Given the description of an element on the screen output the (x, y) to click on. 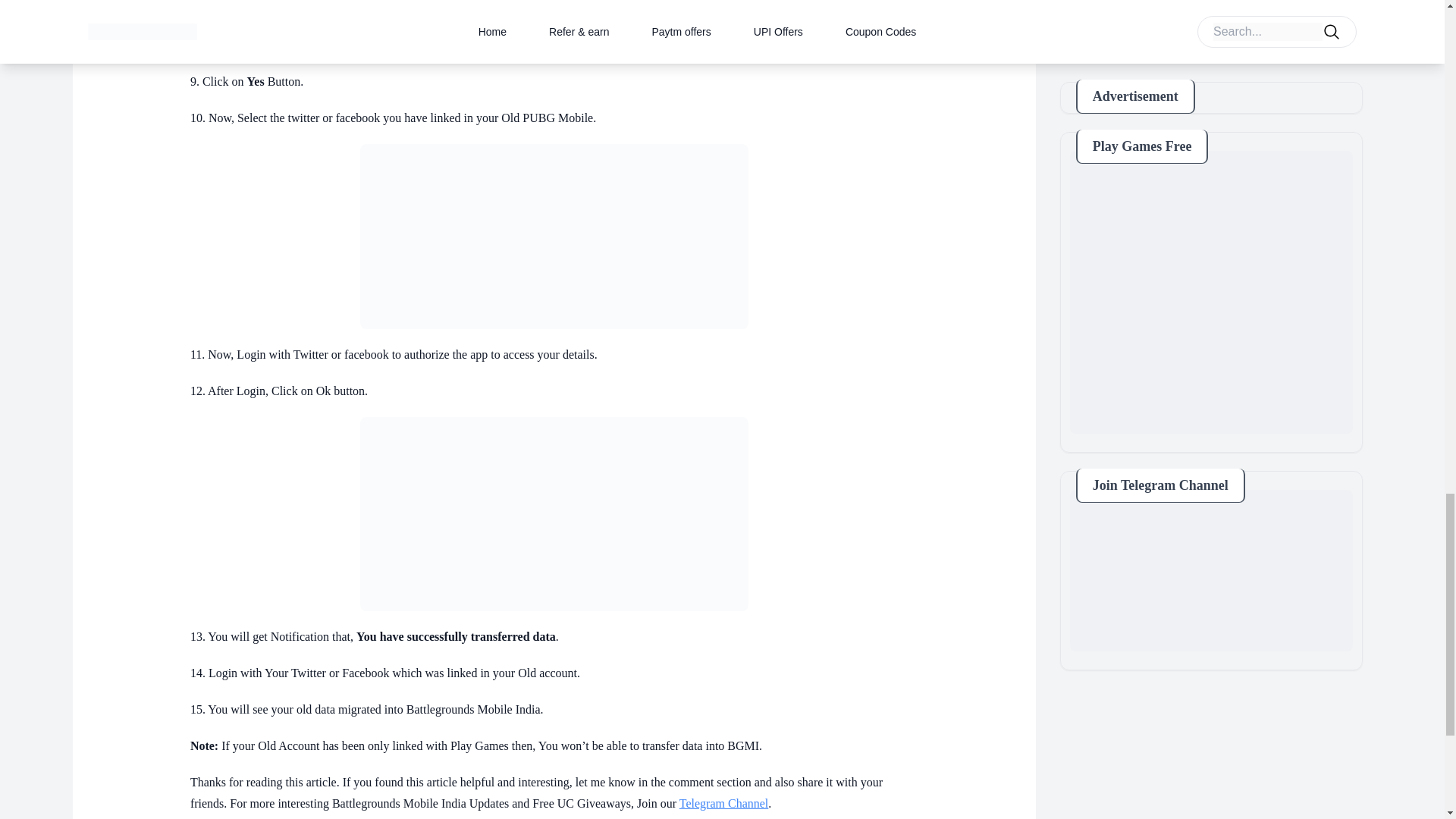
Transfer PUBG Mobile Data to Battlegrounds Mobile India (553, 513)
Transfer PUBG Mobile Data to Battlegrounds Mobile India (553, 28)
Telegram Channel (723, 802)
Transfer PUBG Mobile Data to Battlegrounds Mobile India (553, 236)
